Given the description of an element on the screen output the (x, y) to click on. 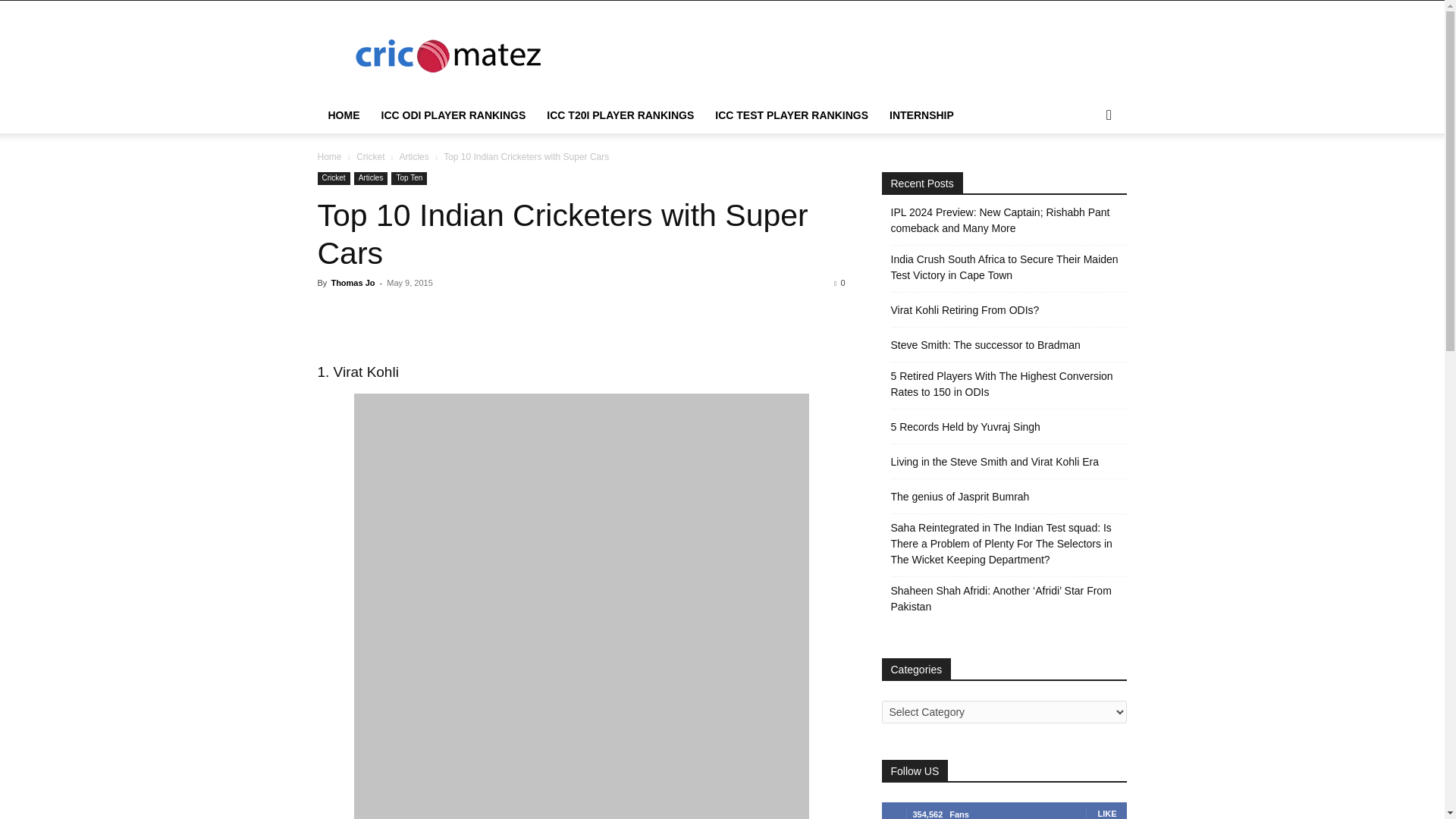
ICC T20I PLAYER RANKINGS (619, 115)
Home (328, 156)
0 (839, 282)
INTERNSHIP (921, 115)
Cricket (333, 178)
Top Ten (408, 178)
Search (1085, 175)
ICC ODI PLAYER RANKINGS (452, 115)
Articles (413, 156)
Thomas Jo (352, 282)
